Given the description of an element on the screen output the (x, y) to click on. 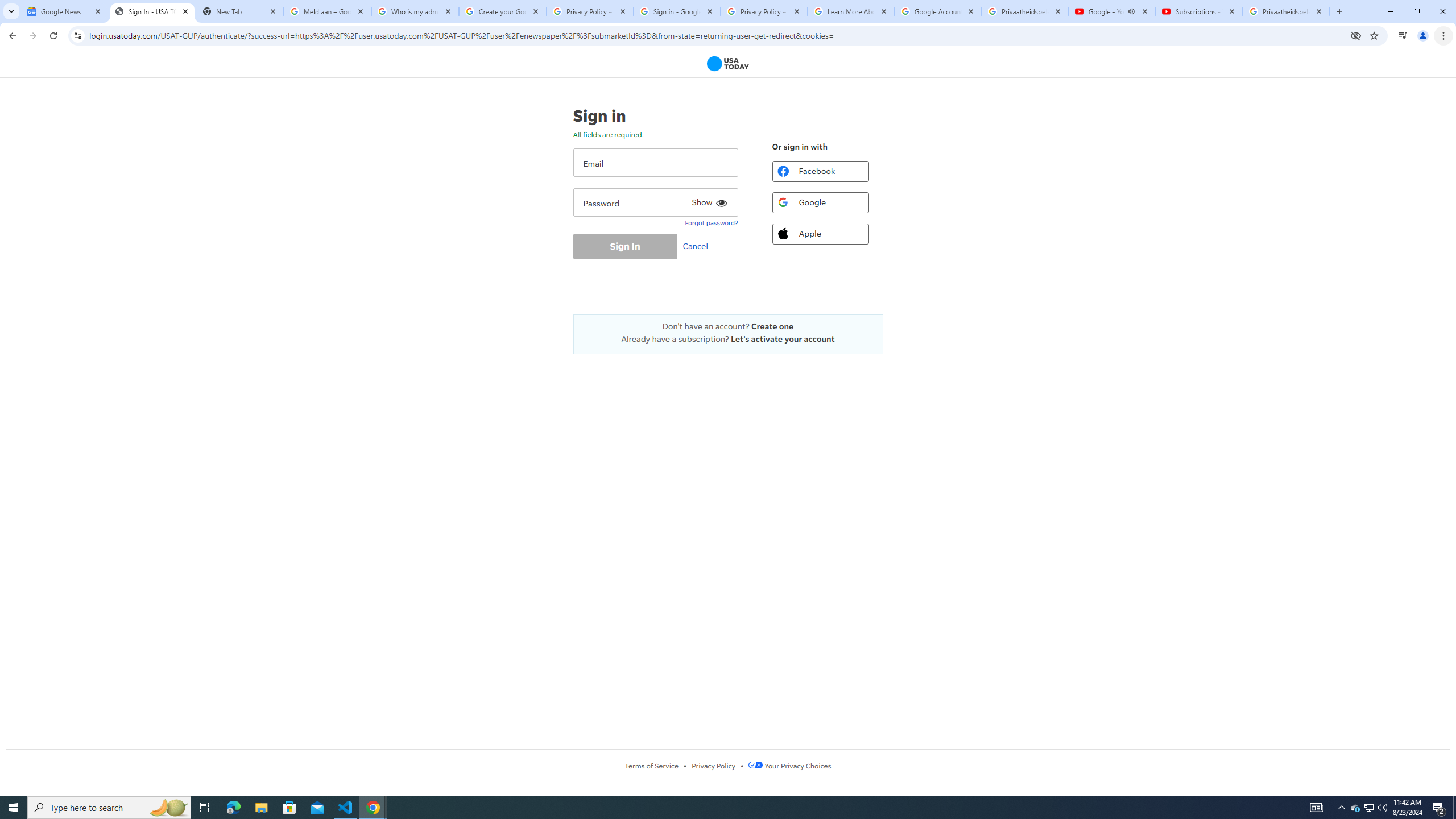
Account Username (655, 162)
Close (1318, 11)
Sign in - Google Accounts (676, 11)
Who is my administrator? - Google Account Help (415, 11)
View site information (77, 35)
Chrome (1445, 35)
Third-party cookies blocked (1355, 35)
Terms of Service (651, 765)
 Your Privacy Choices (789, 765)
Restore (1416, 11)
New Tab (1338, 11)
Enter Password (655, 202)
